Given the description of an element on the screen output the (x, y) to click on. 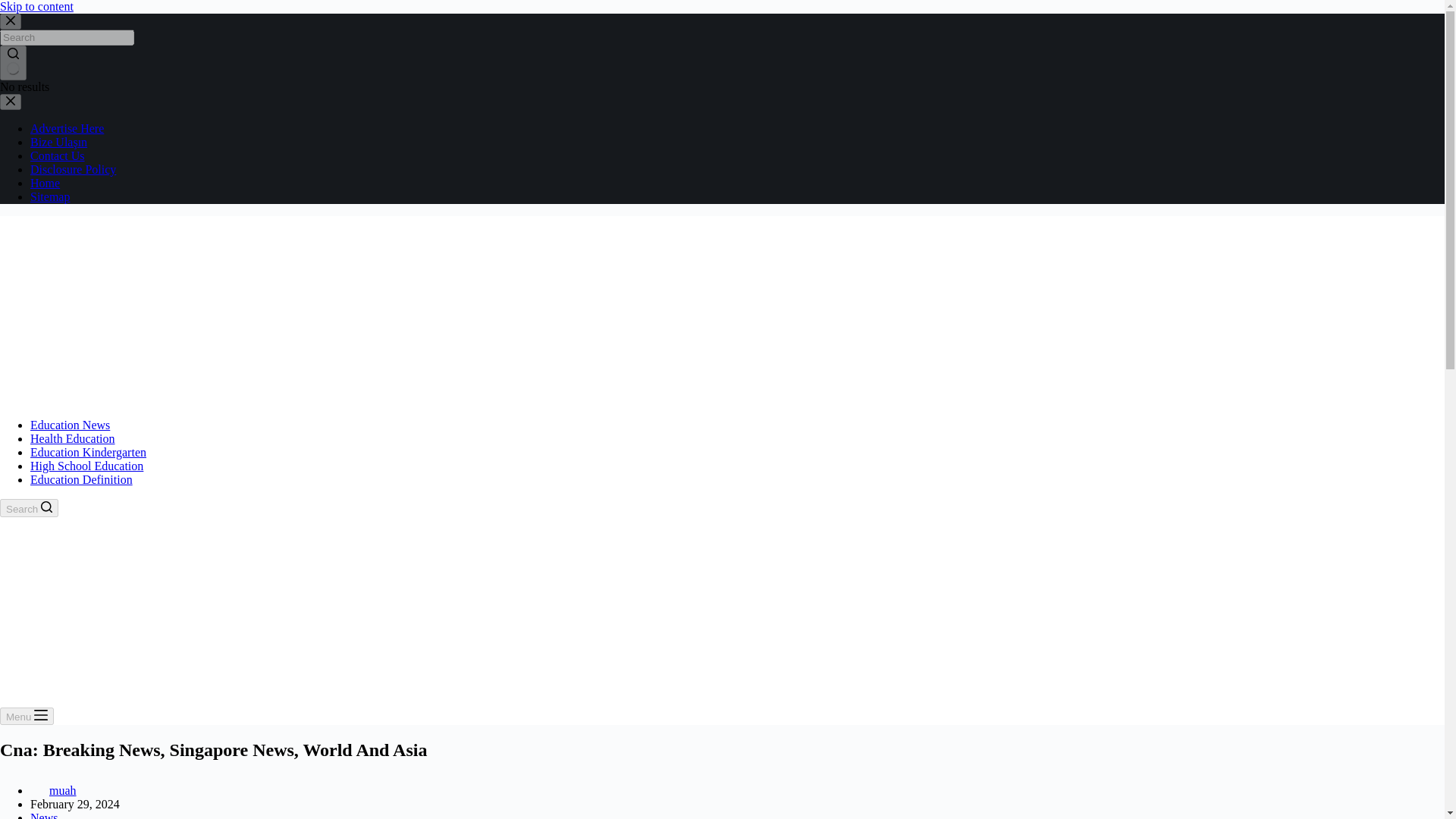
Education Definition (81, 479)
Search (29, 507)
Contact Us (57, 155)
News (44, 815)
Education Kindergarten (88, 451)
Home (44, 182)
Disclosure Policy (73, 169)
Skip to content (37, 6)
Menu (26, 715)
Health Education (72, 438)
Sitemap (49, 196)
Advertise Here (66, 128)
Education News (70, 424)
High School Education (86, 465)
Posts by muah (63, 789)
